Given the description of an element on the screen output the (x, y) to click on. 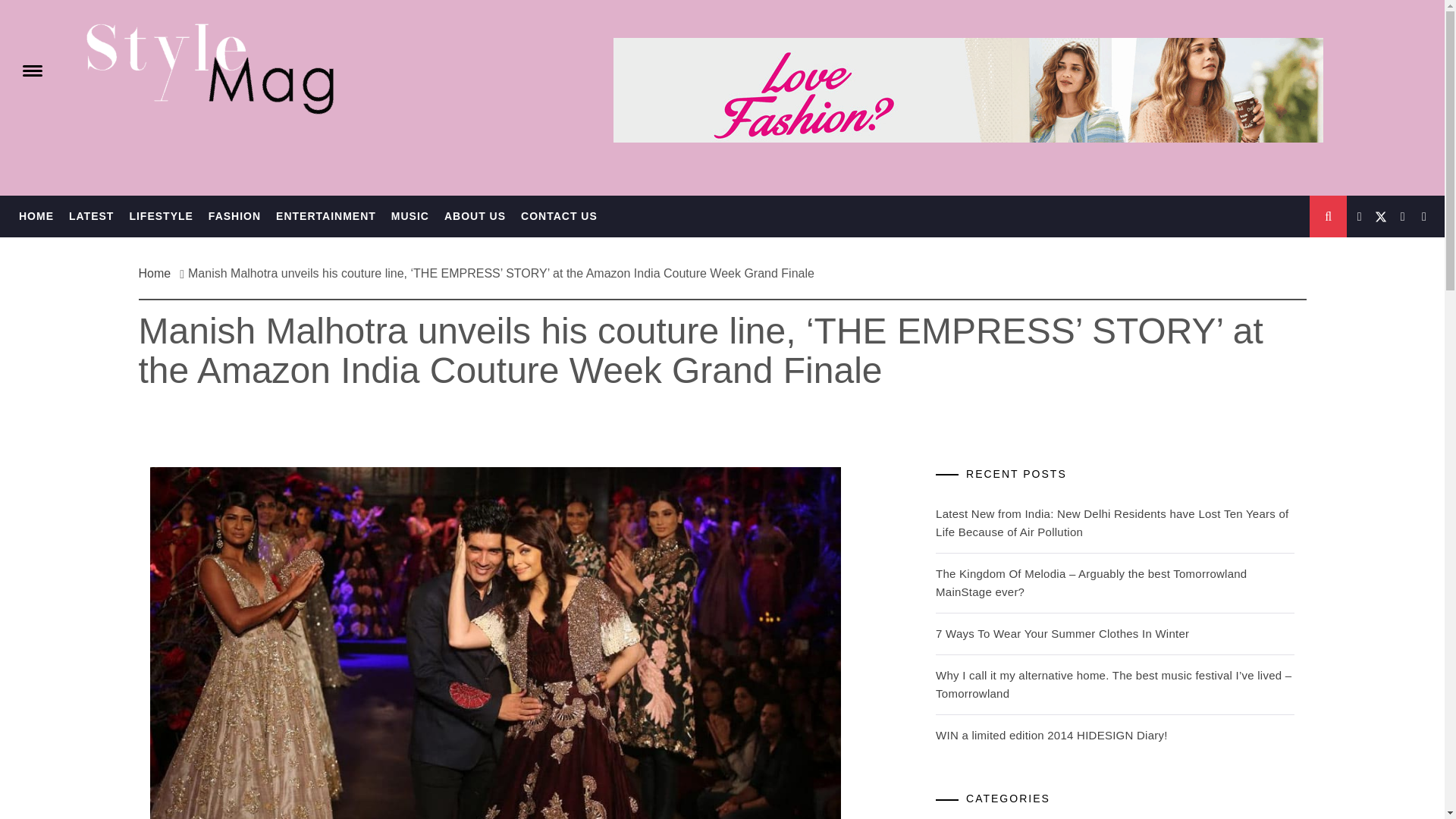
LATEST (90, 216)
ENTERTAINMENT (325, 216)
LIFESTYLE (160, 216)
7 Ways To Wear Your Summer Clothes In Winter (1062, 633)
ABOUT US (474, 216)
HOME (36, 216)
CONTACT US (559, 216)
WIN a limited edition 2014 HIDESIGN Diary! (1051, 735)
Search (797, 37)
Home (158, 273)
STYLEMAG (88, 37)
MUSIC (410, 216)
FASHION (233, 216)
